Given the description of an element on the screen output the (x, y) to click on. 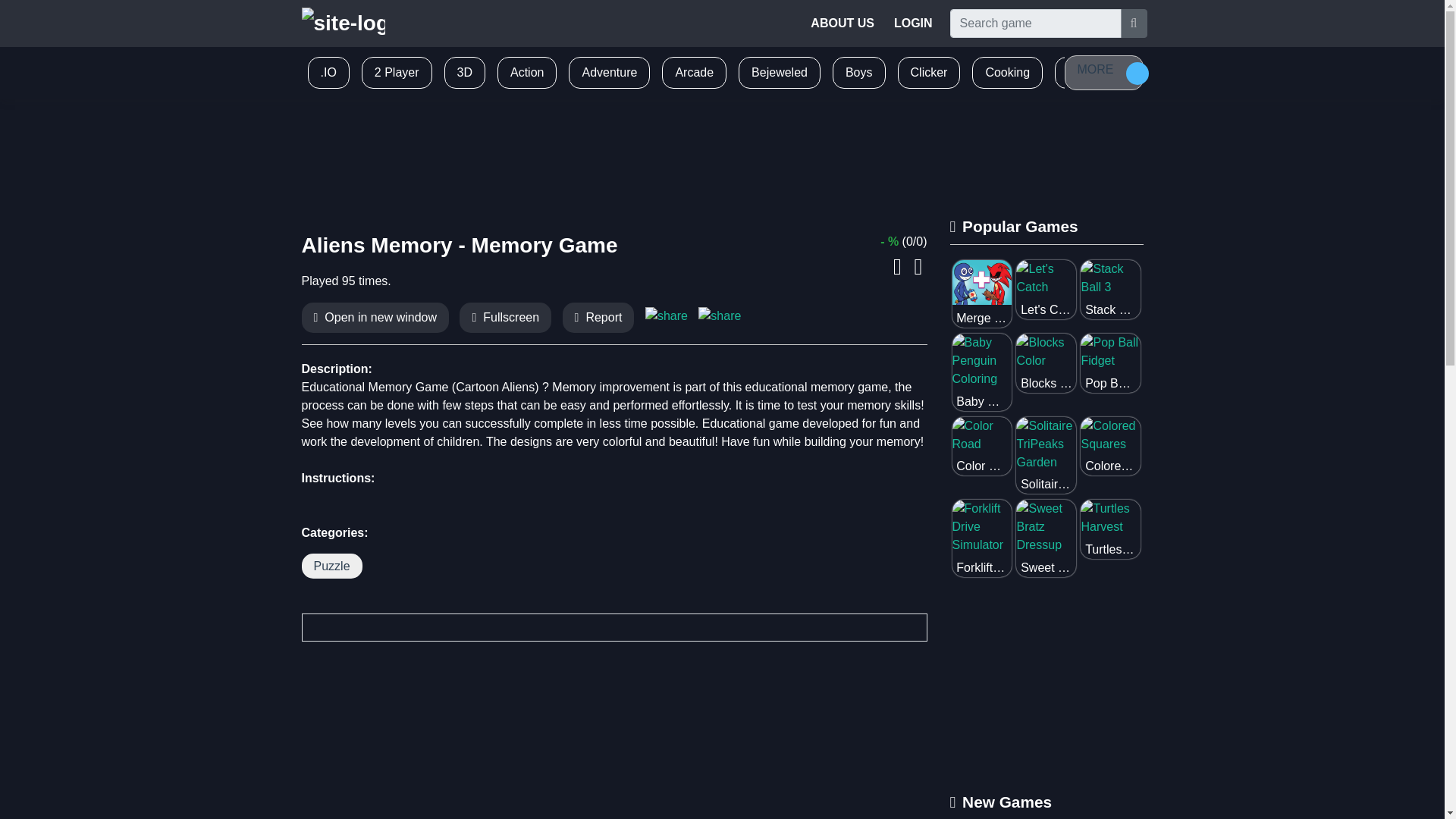
LOGIN (913, 23)
Fullscreen (510, 317)
Open in new window (380, 317)
MORE (1103, 72)
Fighting (1088, 72)
Arcade (694, 72)
Bejeweled (779, 72)
Let's Catch (1045, 289)
Cooking (1007, 72)
Colored Squares (1110, 445)
Boys (859, 72)
ABOUT US (842, 23)
Stack Ball 3 (1110, 289)
3D (465, 72)
Action (527, 72)
